Given the description of an element on the screen output the (x, y) to click on. 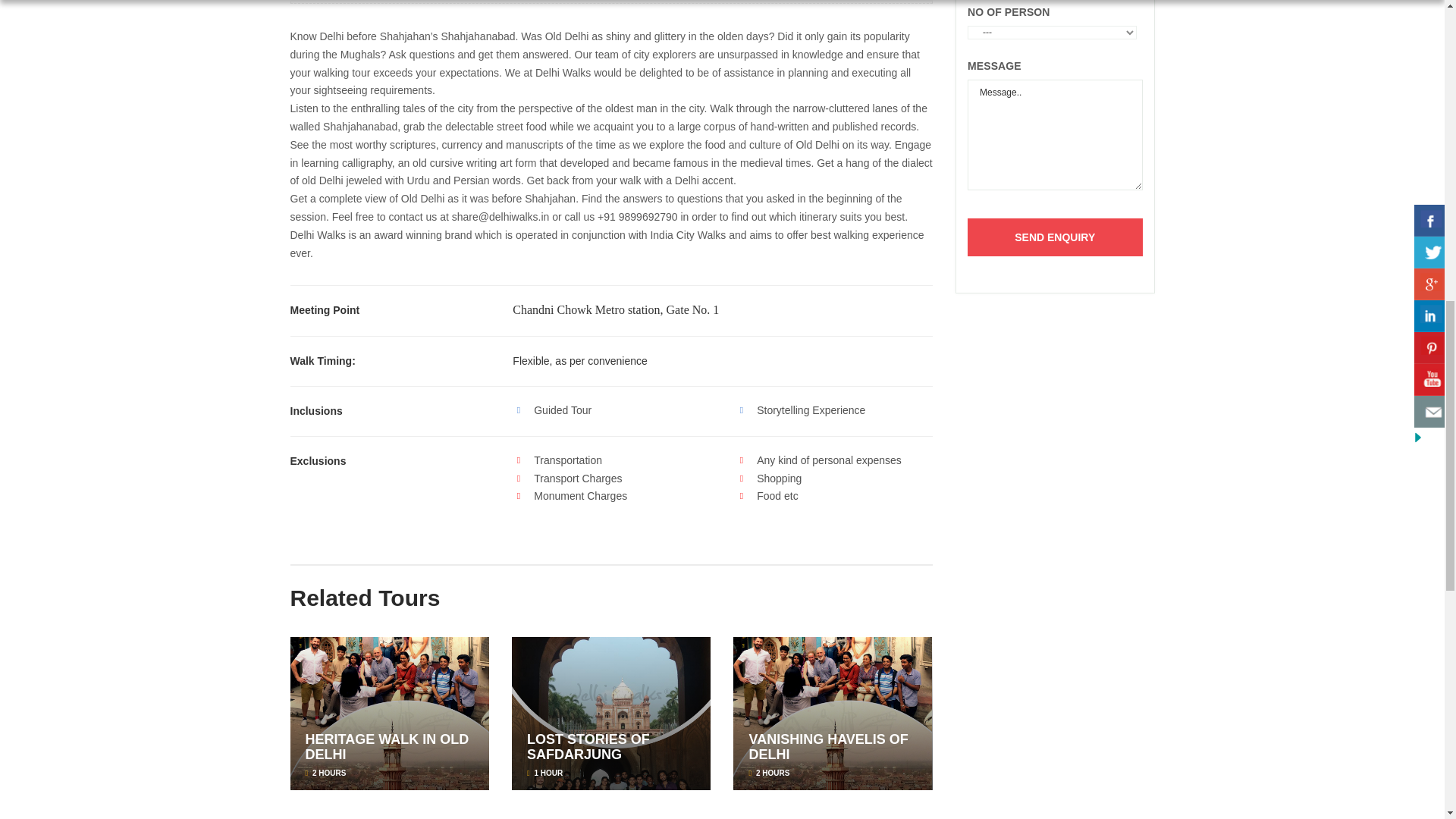
Send Enquiry (1055, 237)
